Given the description of an element on the screen output the (x, y) to click on. 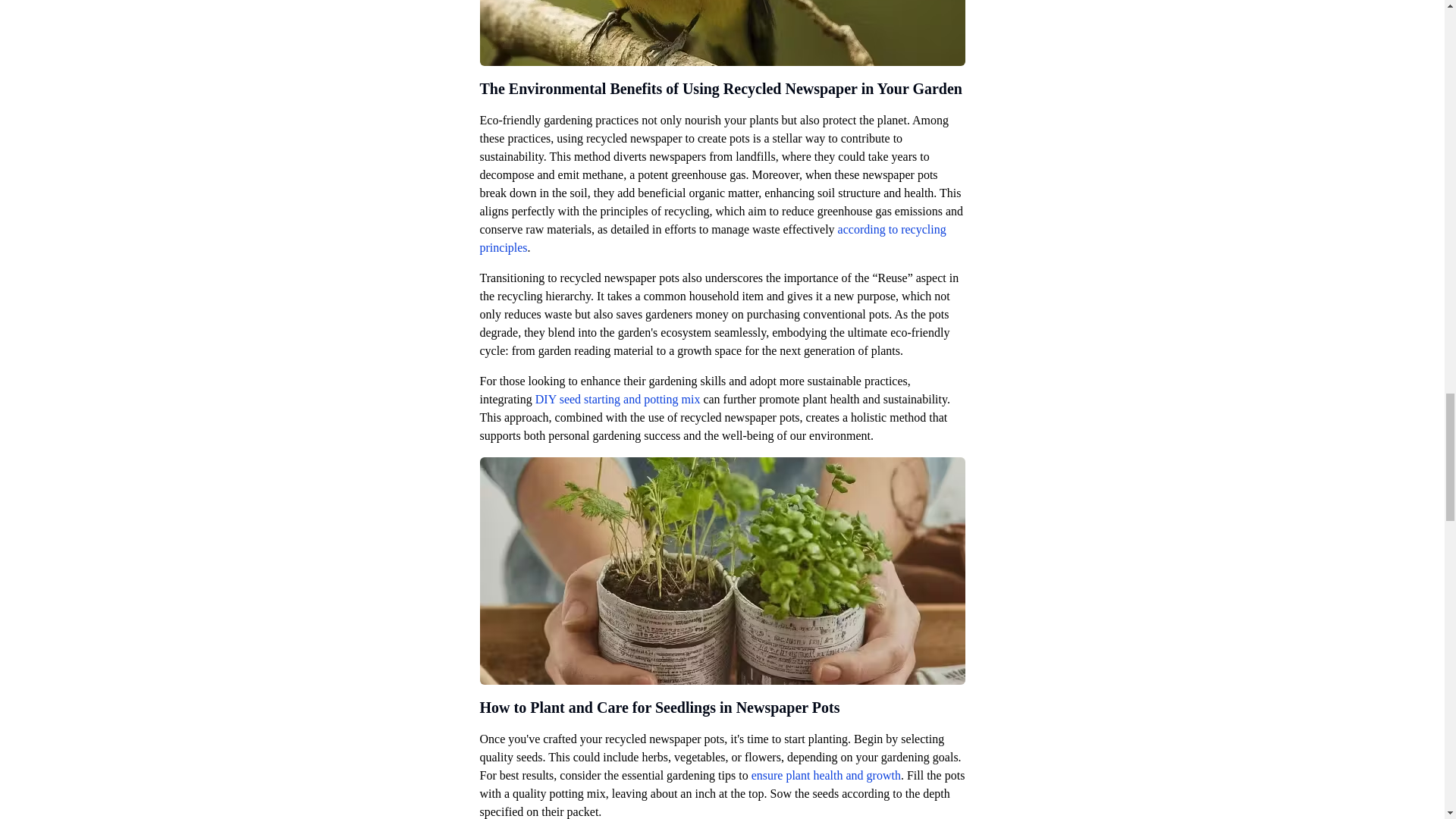
according to recycling principles (711, 237)
ensure plant health and growth (826, 775)
DIY seed starting and potting mix (617, 399)
